Given the description of an element on the screen output the (x, y) to click on. 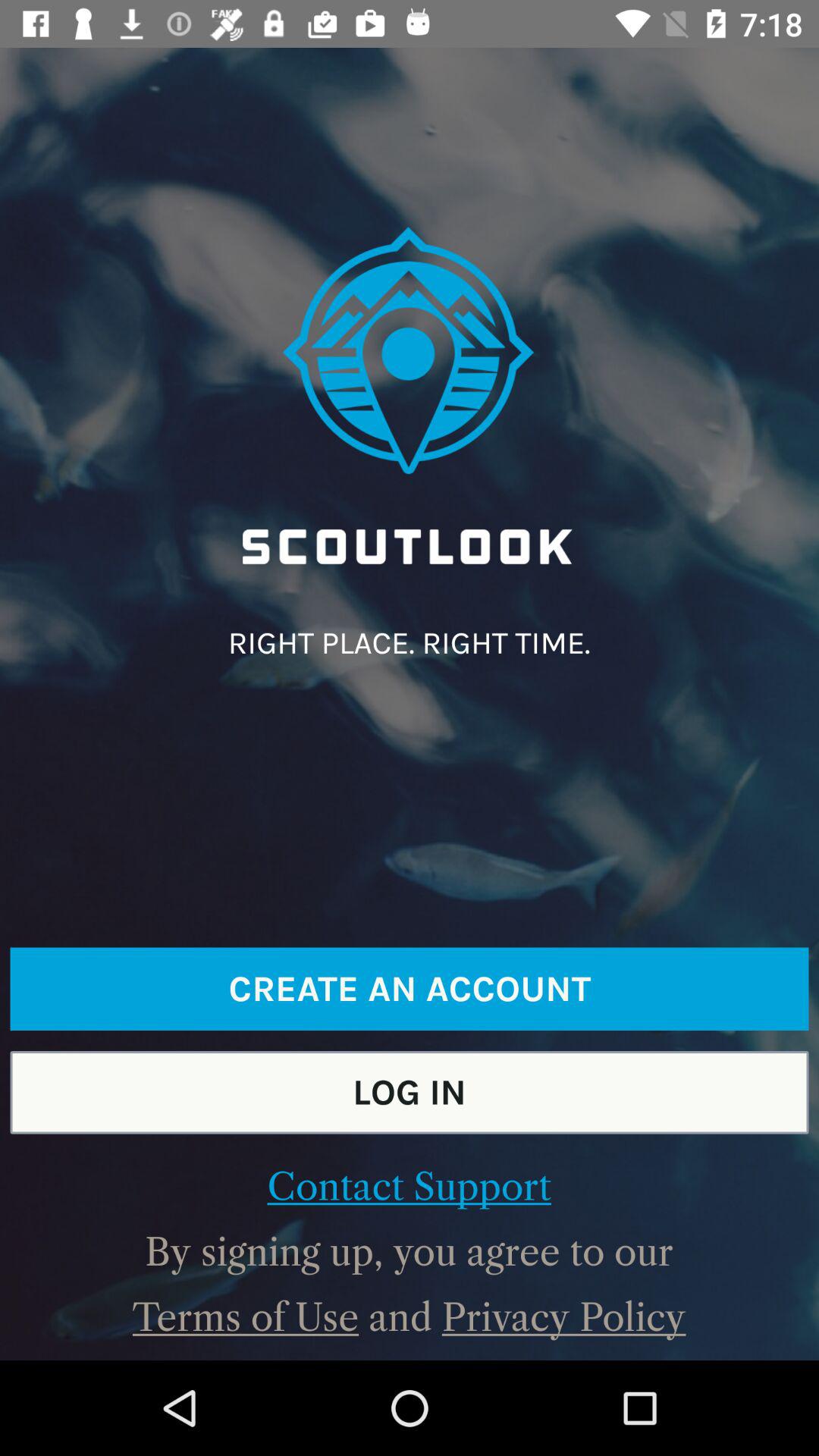
press icon next to  and  item (563, 1317)
